Given the description of an element on the screen output the (x, y) to click on. 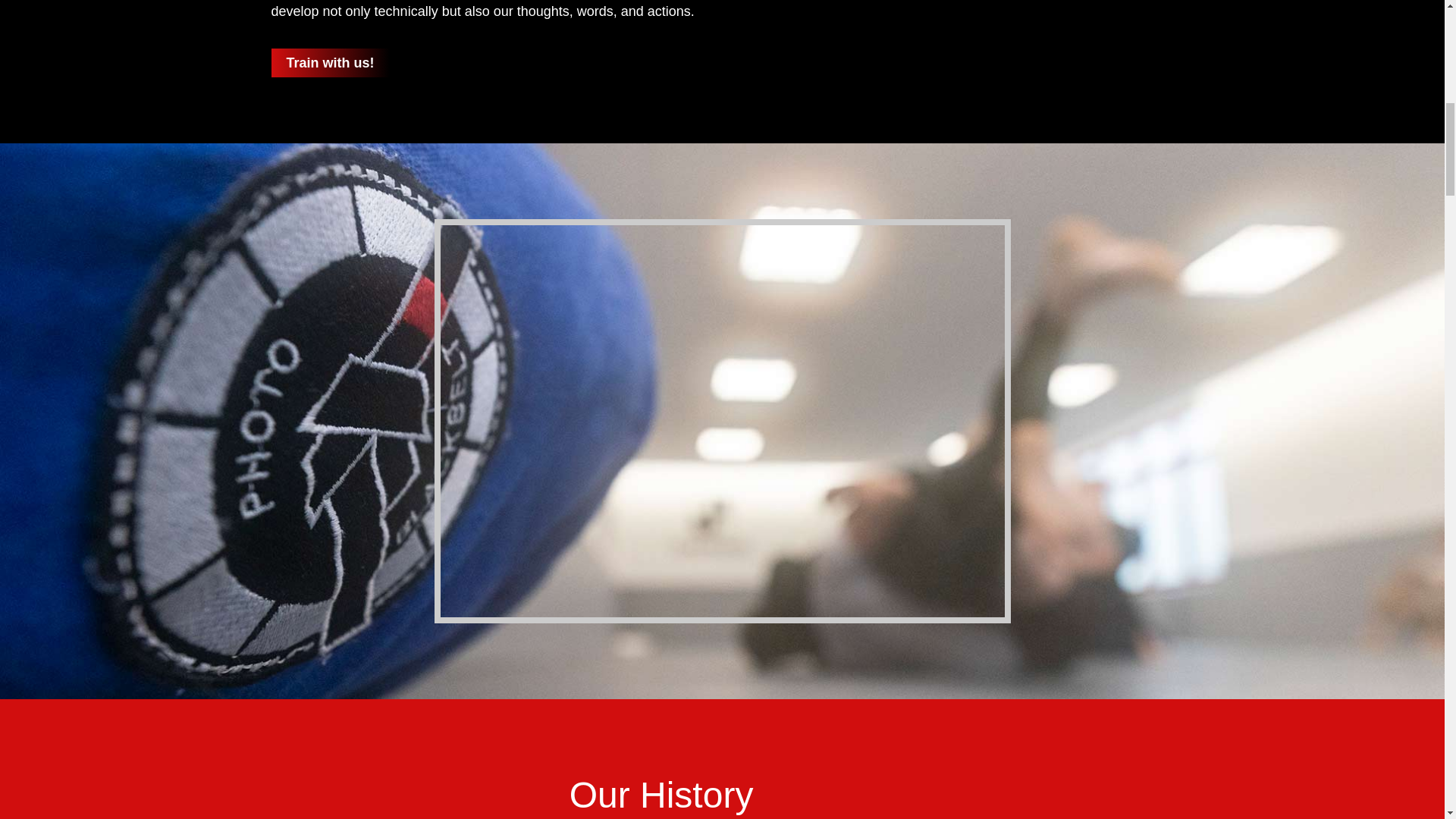
Train with us! (330, 62)
